Given the description of an element on the screen output the (x, y) to click on. 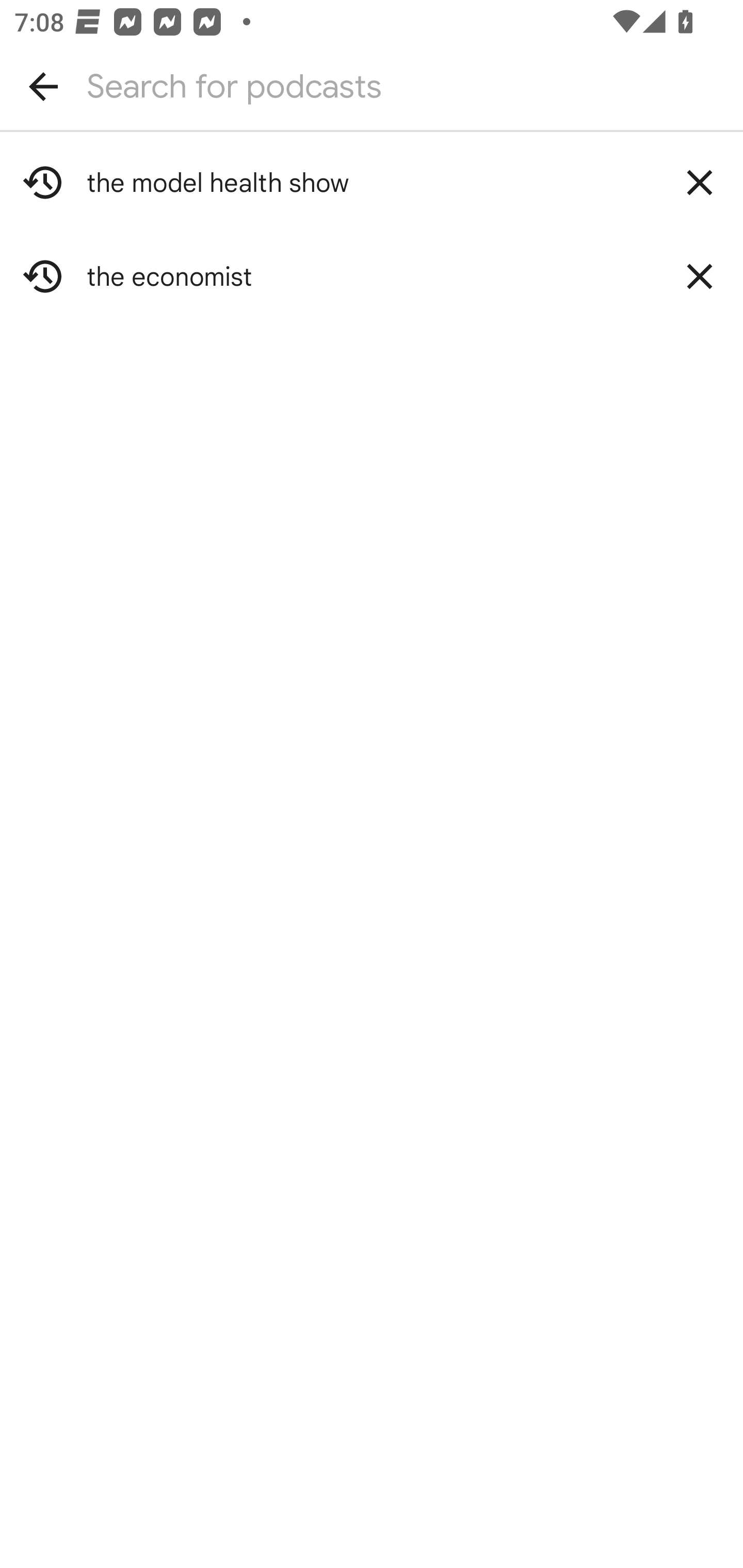
Search for podcasts (371, 85)
the model health show (371, 182)
the economist (371, 276)
